Given the description of an element on the screen output the (x, y) to click on. 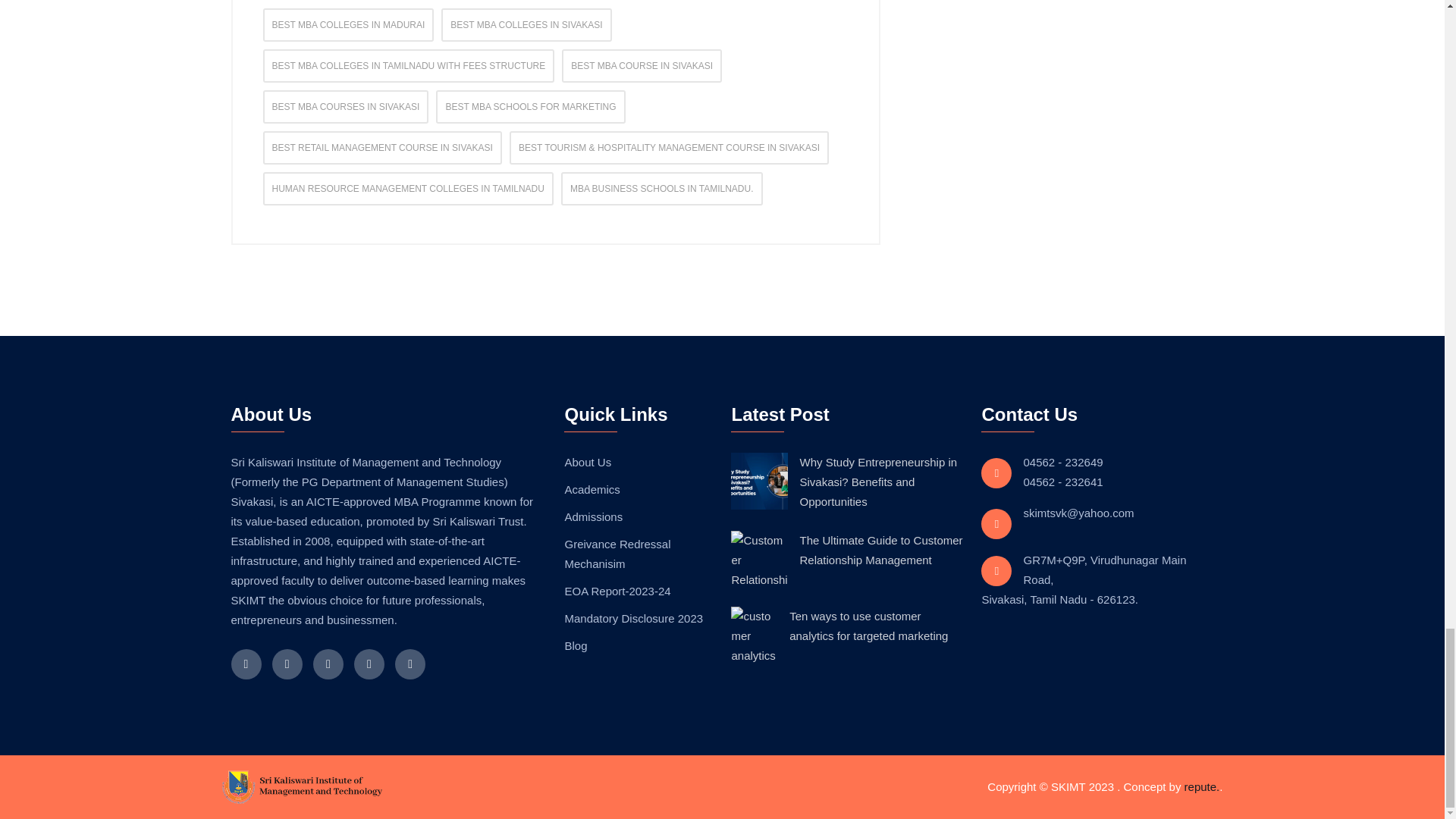
Youtube (409, 664)
Facebook (245, 664)
Youtube (368, 664)
LinkedIn (287, 664)
Sivakasi (301, 786)
Twitter (328, 664)
